Given the description of an element on the screen output the (x, y) to click on. 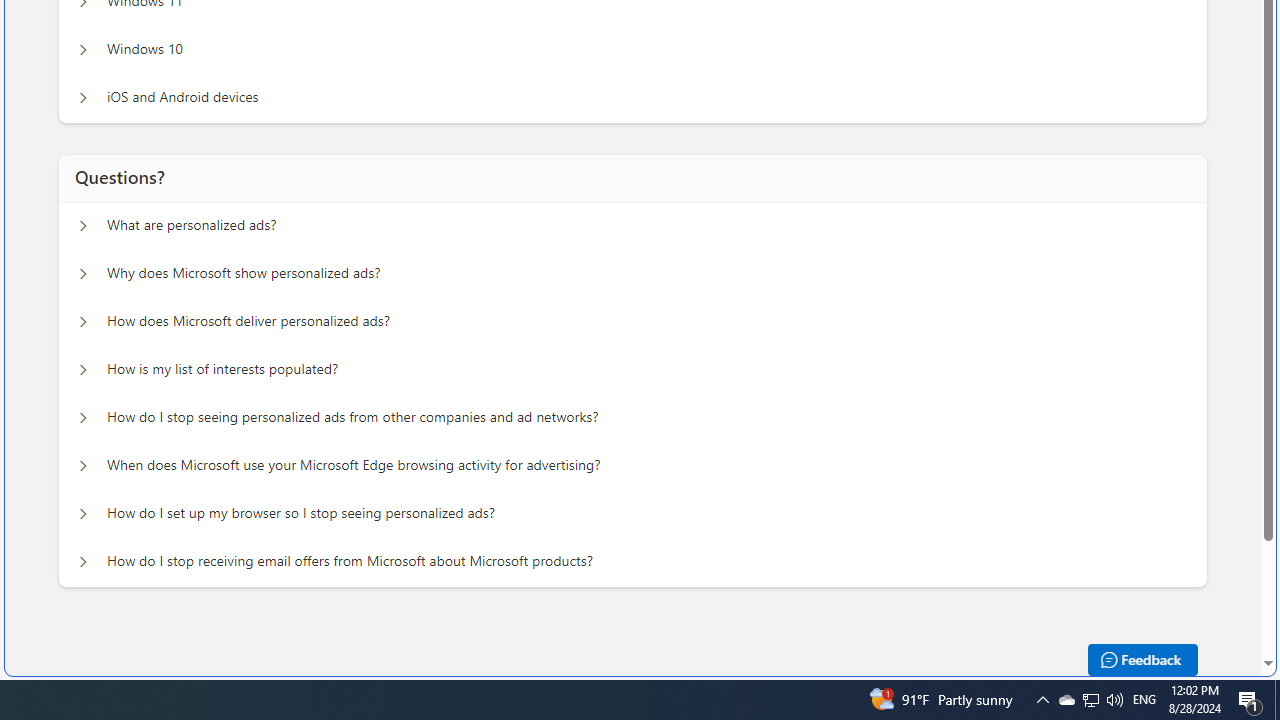
Questions? Why does Microsoft show personalized ads? (82, 273)
Questions? How is my list of interests populated? (82, 370)
